Given the description of an element on the screen output the (x, y) to click on. 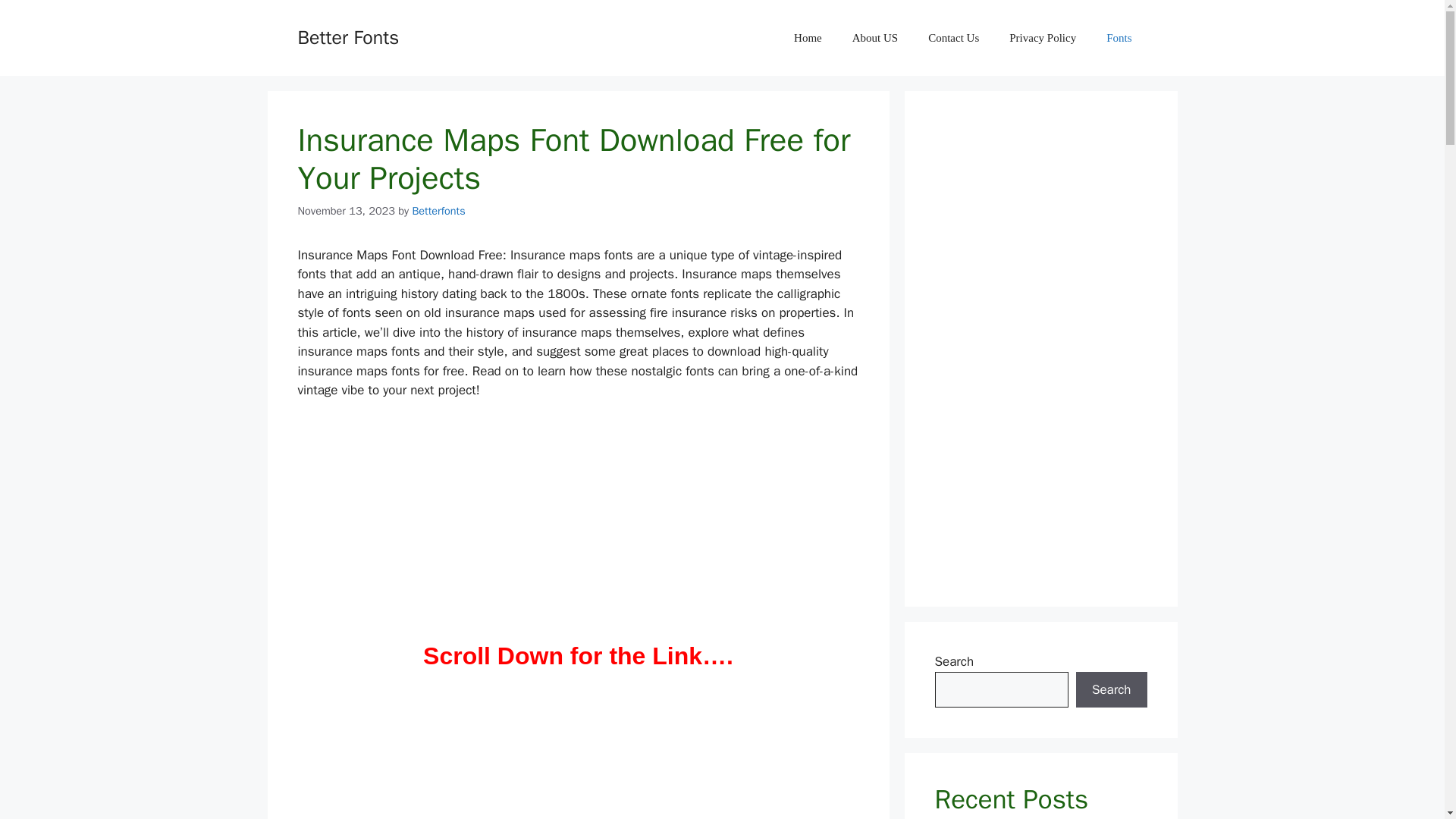
View all posts by Betterfonts (438, 210)
Search (1111, 689)
About US (874, 37)
Privacy Policy (1042, 37)
Fonts (1118, 37)
Better Fonts (347, 37)
Advertisement (578, 756)
Betterfonts (438, 210)
Home (807, 37)
Advertisement (578, 525)
